Given the description of an element on the screen output the (x, y) to click on. 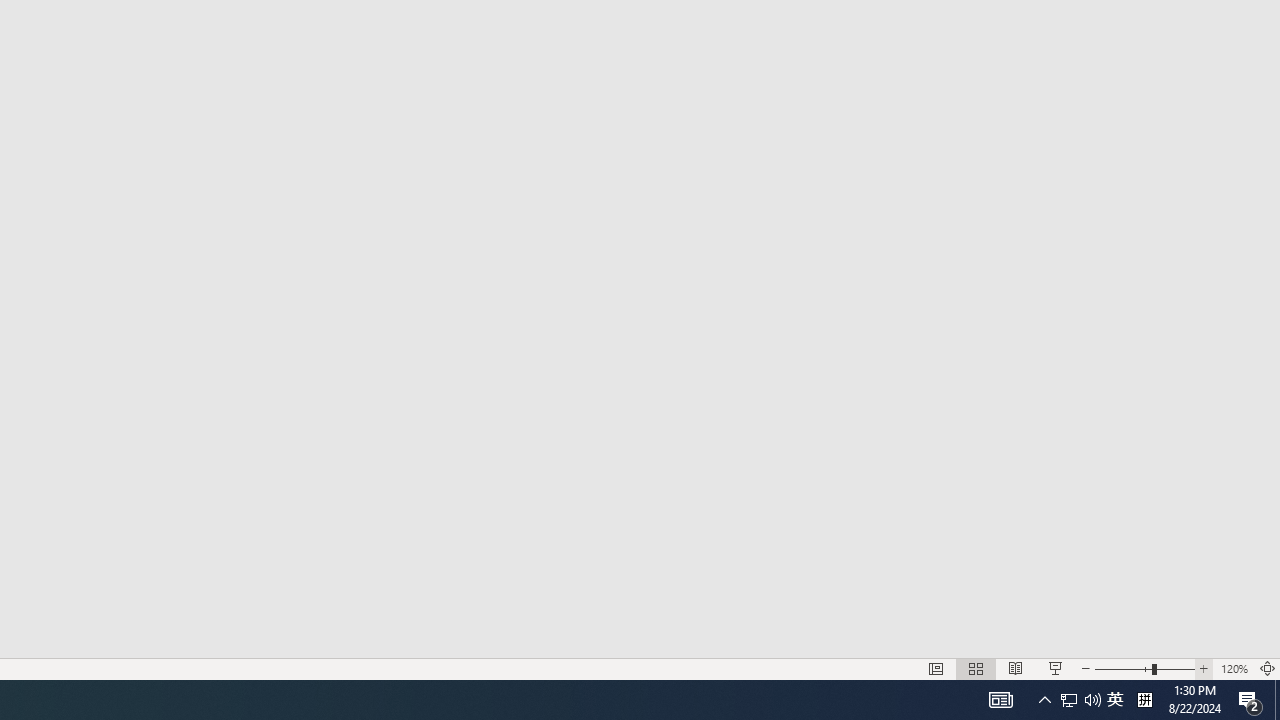
Zoom 120% (1234, 668)
